Given the description of an element on the screen output the (x, y) to click on. 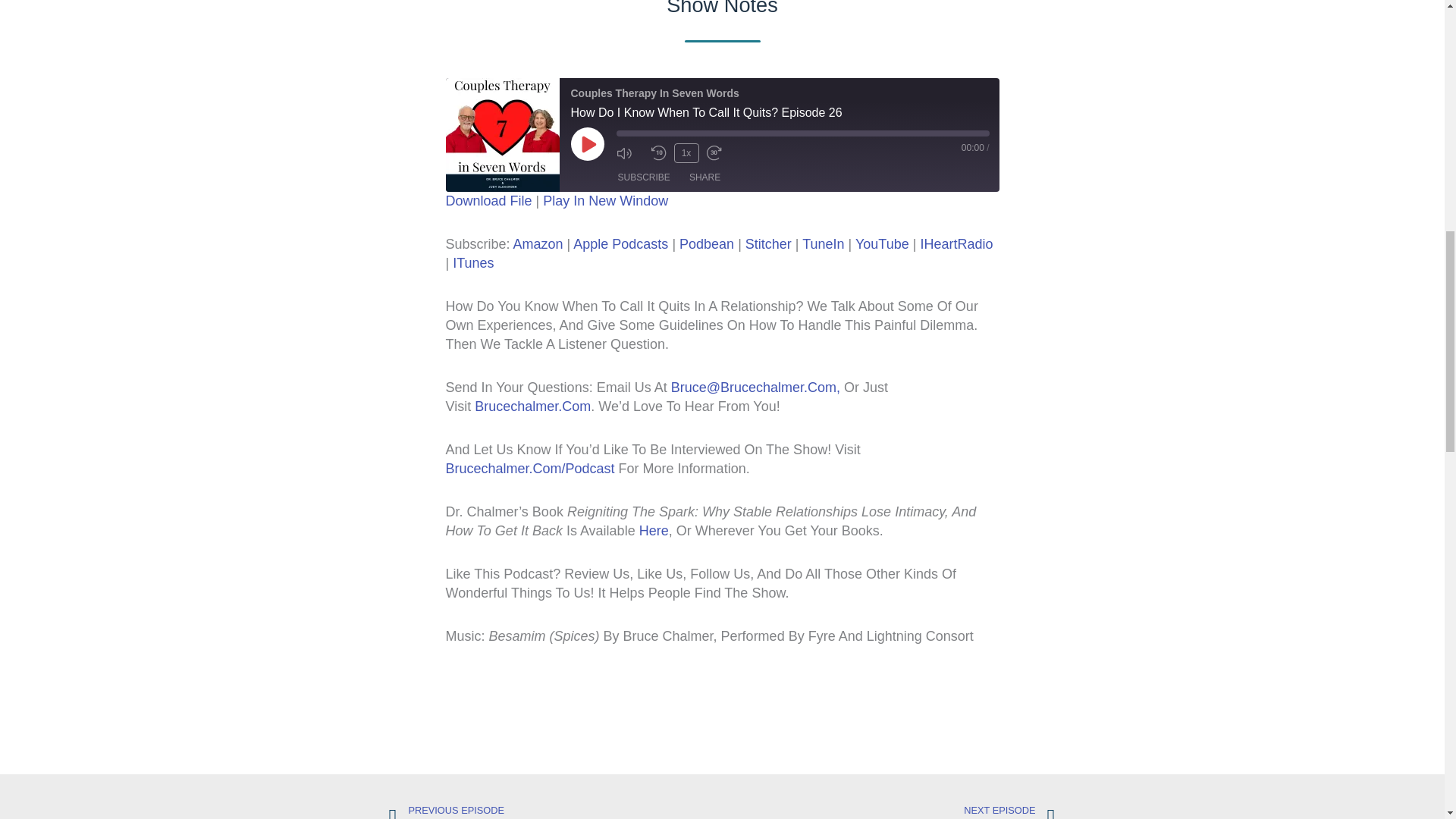
SUBSCRIBE (643, 177)
Rewind 10 Seconds (657, 152)
Couples Therapy in Seven Words (502, 134)
Seek (801, 133)
Fast Forward 30 seconds (719, 152)
Rewind 10 seconds (657, 152)
Fast Forward 30 seconds (719, 152)
1x (685, 152)
Play Episode (587, 143)
Subscribe (643, 177)
